Given the description of an element on the screen output the (x, y) to click on. 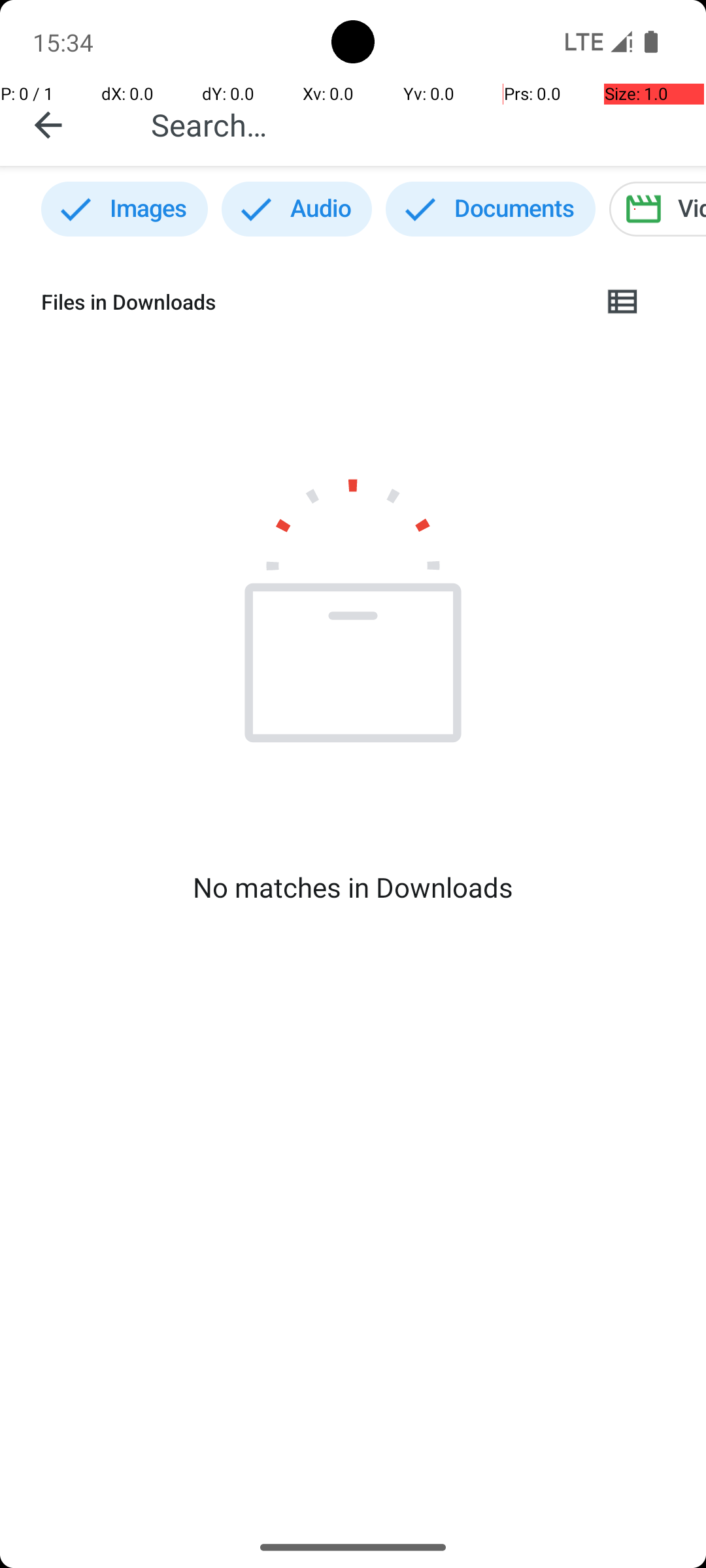
No matches in Downloads Element type: android.widget.TextView (352, 886)
